Given the description of an element on the screen output the (x, y) to click on. 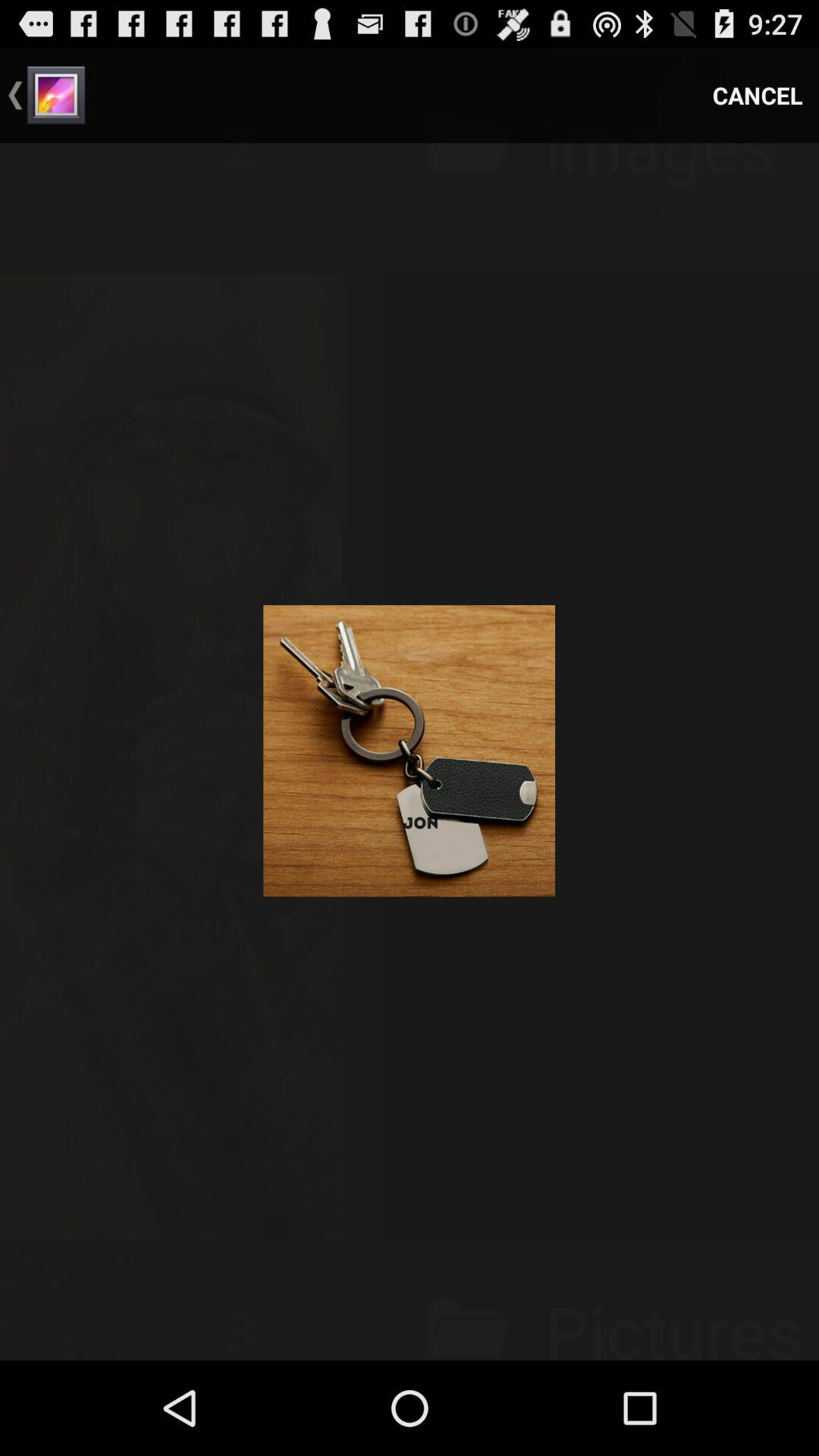
select cancel icon (757, 95)
